Given the description of an element on the screen output the (x, y) to click on. 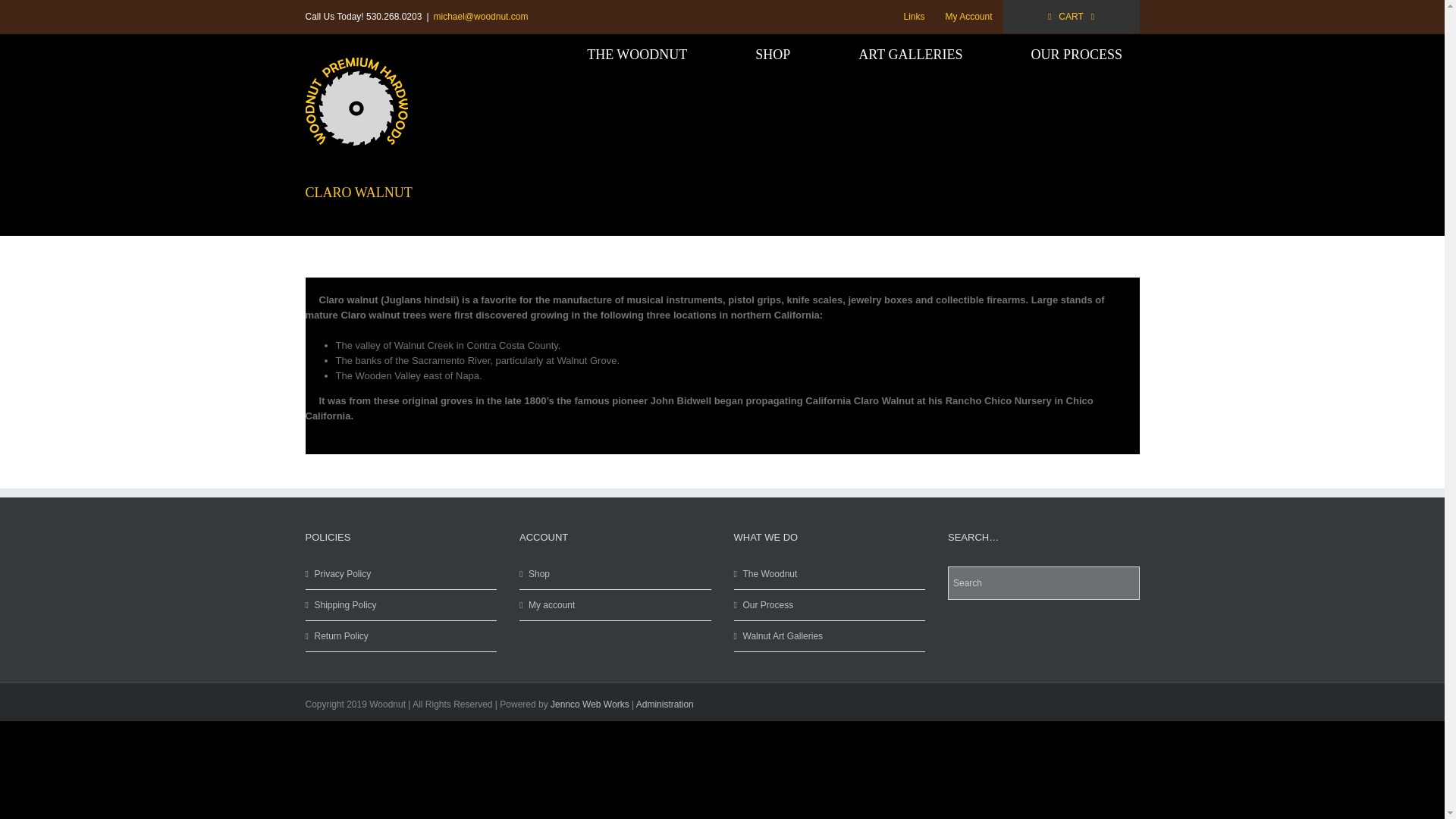
My account (615, 604)
Log In (1030, 144)
Shipping Policy (401, 604)
CART (1070, 16)
Walnut Art Galleries (830, 635)
Links (913, 16)
SHOP (773, 54)
ART GALLERIES (910, 54)
Jennco Web Works (589, 704)
The Woodnut (830, 573)
Administration (665, 704)
Return Policy (401, 635)
OUR PROCESS (1076, 54)
Our Process (830, 604)
THE WOODNUT (637, 54)
